Given the description of an element on the screen output the (x, y) to click on. 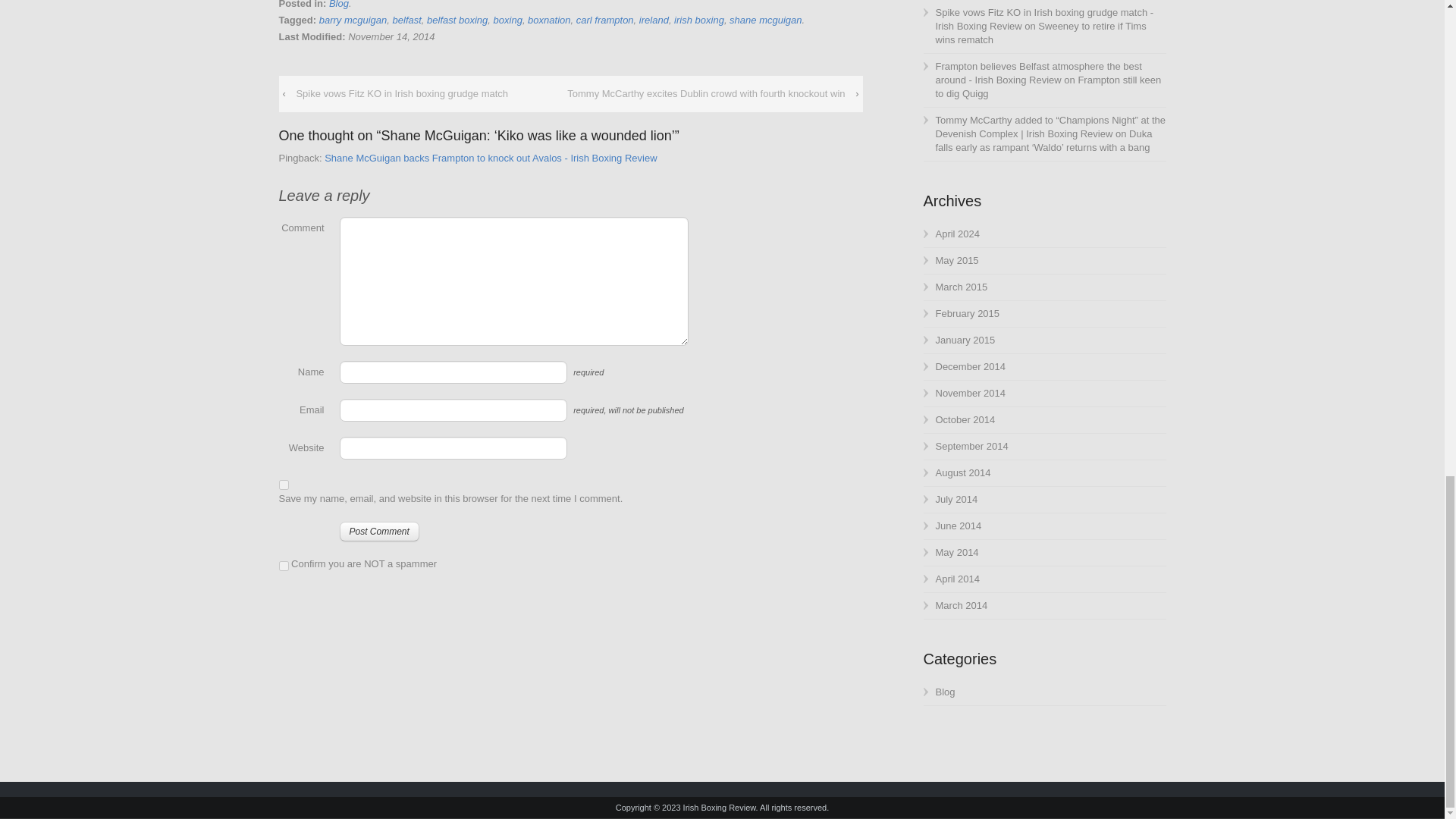
boxing (507, 19)
boxnation (548, 19)
on (283, 565)
shane mcguigan (765, 19)
yes (283, 484)
Post Comment (379, 531)
ireland (653, 19)
Sweeney to retire if Tims wins rematch (1041, 32)
Post Comment (379, 531)
Spike vows Fitz KO in Irish boxing grudge match (401, 93)
irish boxing (698, 19)
belfast boxing (456, 19)
Tommy McCarthy excites Dublin crowd with fourth knockout win (705, 93)
barry mcguigan (352, 19)
